Given the description of an element on the screen output the (x, y) to click on. 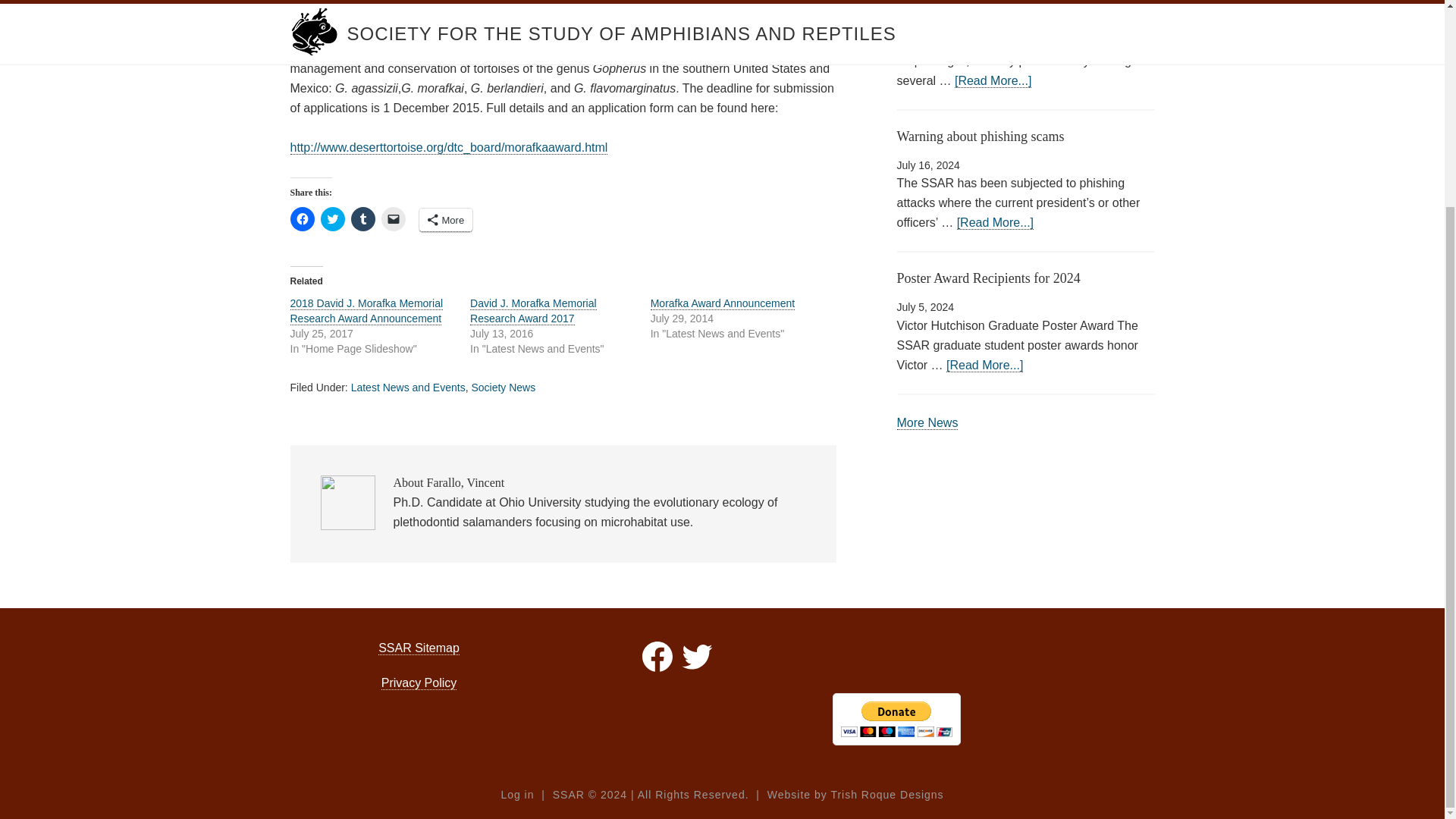
Click to share on Twitter (331, 218)
2018 David J. Morafka Memorial Research Award Announcement (365, 311)
Click to email a link to a friend (392, 218)
Click to share on Tumblr (362, 218)
Click to share on Facebook (301, 218)
David J. Morafka Memorial Research Award 2017 (533, 311)
